Given the description of an element on the screen output the (x, y) to click on. 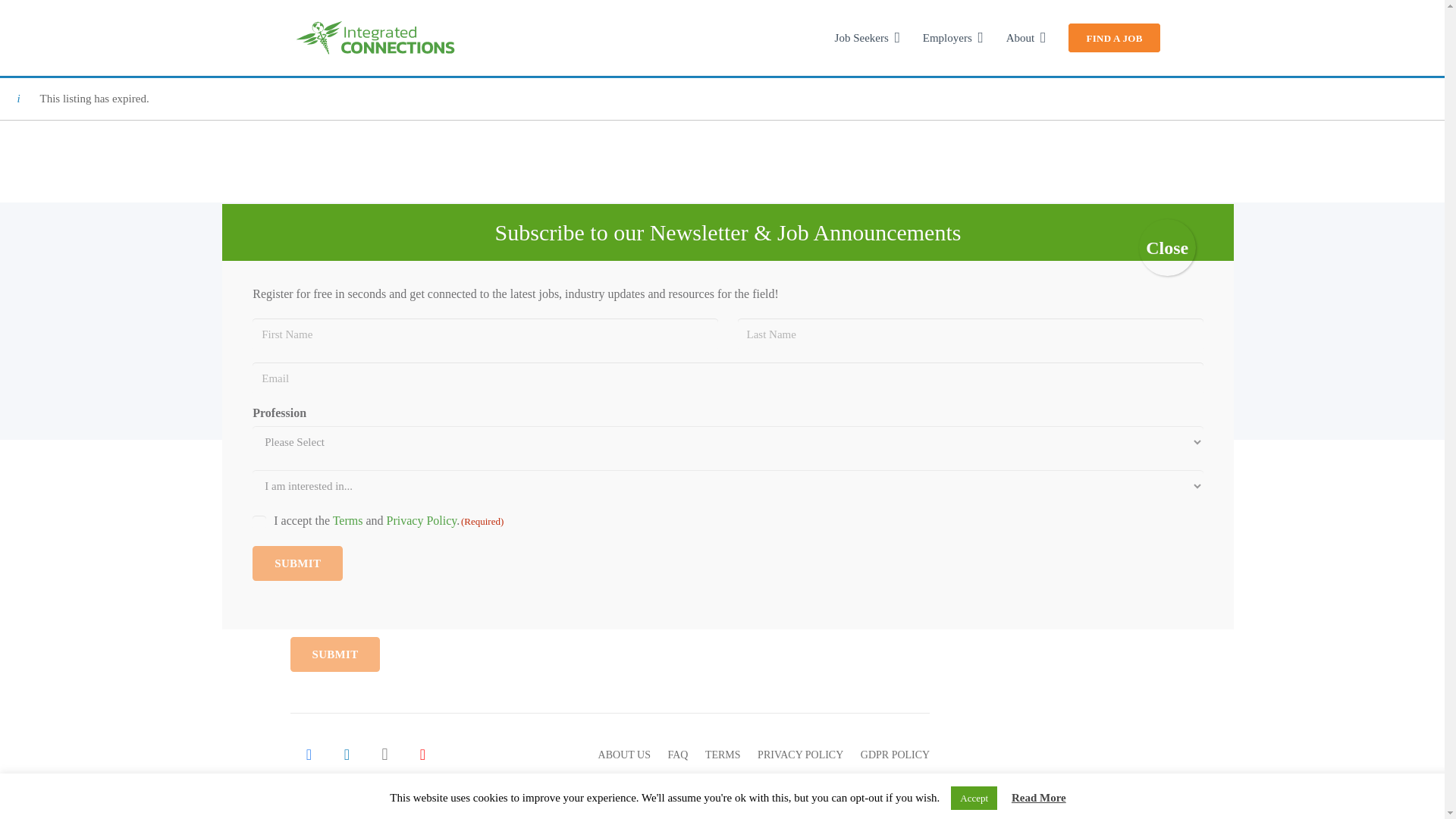
LinkedIn (346, 754)
HIRE THE BEST CANDIDATE (625, 351)
Submit (334, 654)
Submit (296, 563)
About (1025, 38)
1 (258, 522)
ABOUT US (624, 754)
Instagram (384, 754)
Job Seekers (831, 351)
Job Seekers (867, 38)
YouTube (422, 754)
FIND YOUR DREAM JOB (831, 351)
Employers (952, 38)
FIND A JOB (1114, 37)
Submit (334, 654)
